Given the description of an element on the screen output the (x, y) to click on. 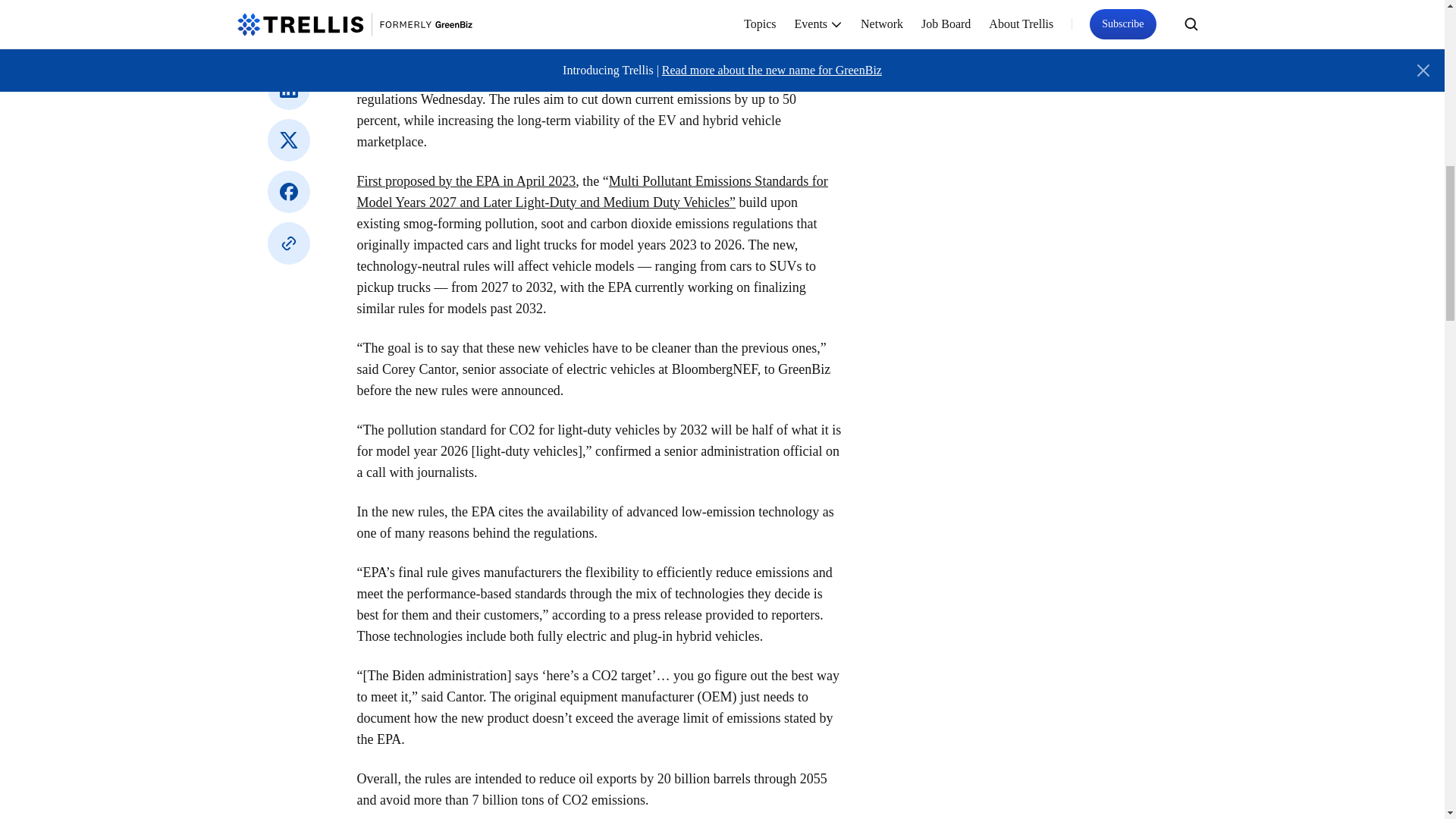
LinkedIn (287, 88)
First proposed by the EPA in April 2023 (465, 181)
X (287, 139)
Website (287, 242)
Facebook (287, 191)
